Given the description of an element on the screen output the (x, y) to click on. 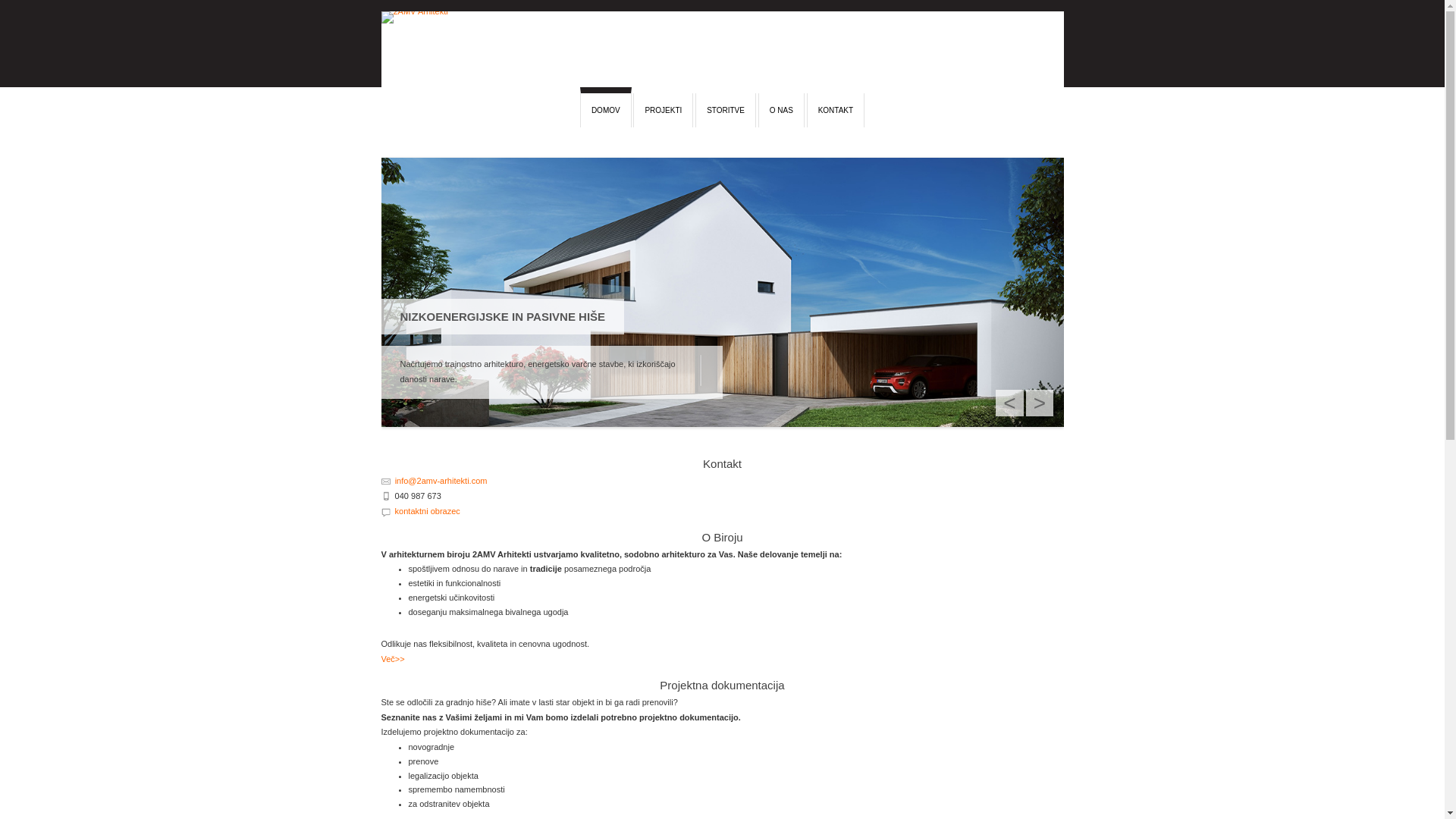
KONTAKT Element type: text (835, 110)
  kontaktni obrazec Element type: text (424, 510)
> Element type: text (1039, 402)
2AMV Arhitekti Element type: hover (721, 49)
info@2amv-arhitekti.com Element type: text (441, 480)
< Element type: text (1008, 402)
Skip to content Element type: text (408, 93)
2AMV mobitel Element type: hover (384, 494)
O NAS Element type: text (781, 110)
2AMV mail Element type: hover (384, 479)
STORITVE Element type: text (725, 110)
2AMV Arhitekti Element type: text (514, 113)
kontaktni obrazec Element type: hover (384, 510)
DOMOV Element type: text (605, 107)
PROJEKTI Element type: text (663, 110)
